Given the description of an element on the screen output the (x, y) to click on. 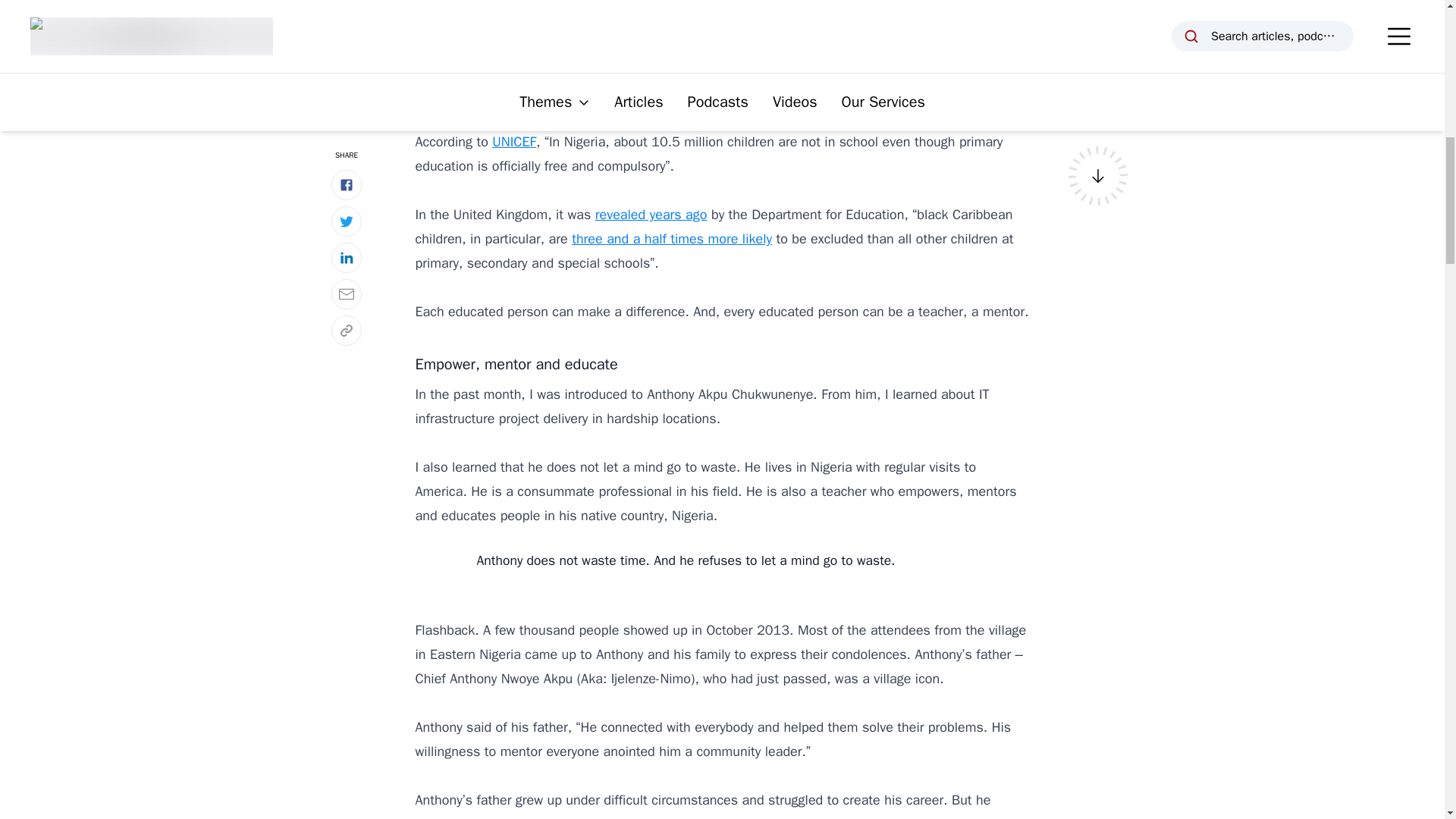
UNICEF (513, 141)
revealed years ago (651, 214)
three and a half times more likely (671, 238)
reported (638, 44)
